Given the description of an element on the screen output the (x, y) to click on. 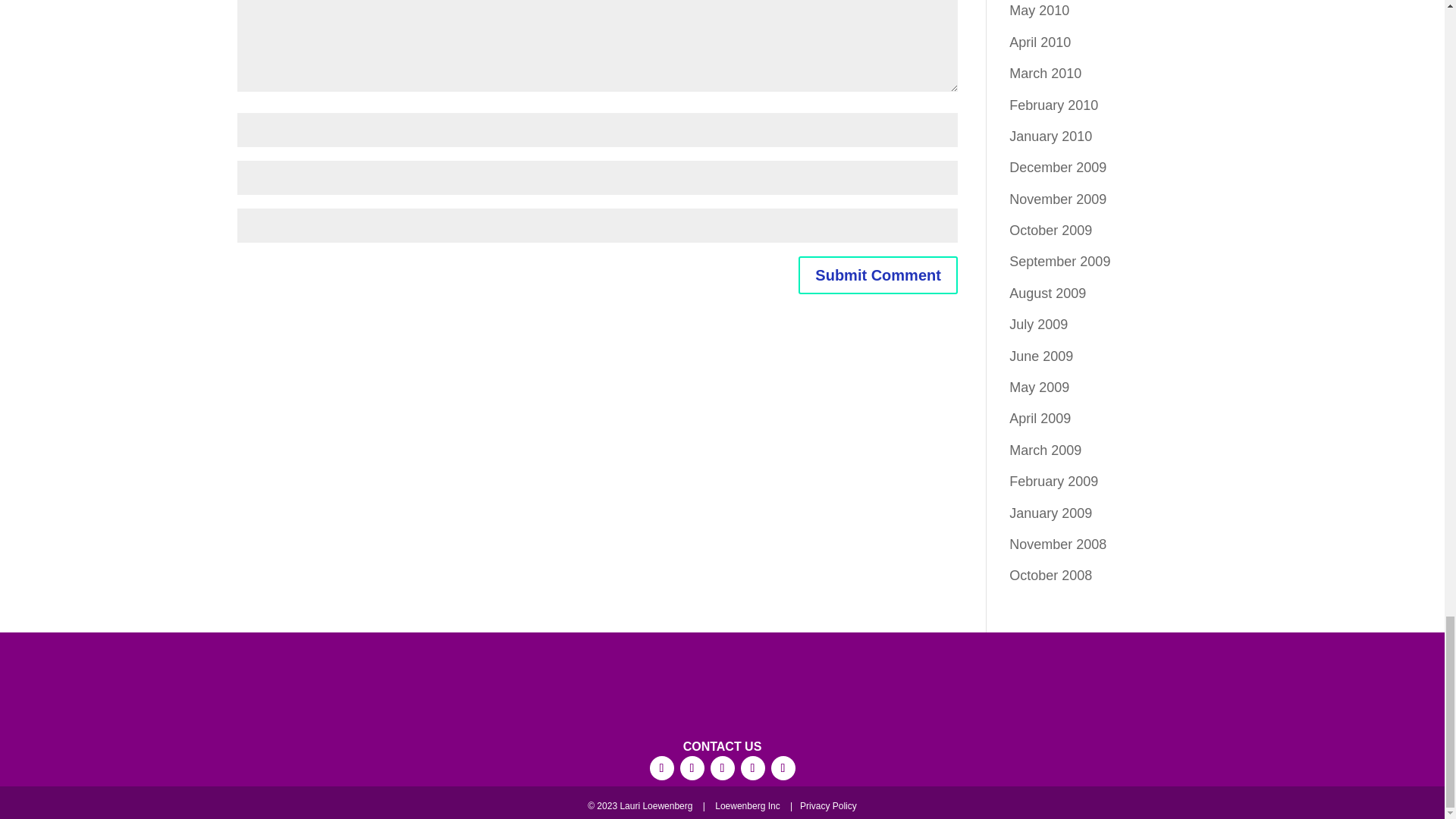
Follow on Youtube (782, 767)
Follow on Facebook (660, 767)
Follow on Instagram (691, 767)
cropped-Dream-Site-Logo.png (721, 688)
Follow on X (751, 767)
Submit Comment (877, 275)
Follow on TikTok (721, 767)
